Given the description of an element on the screen output the (x, y) to click on. 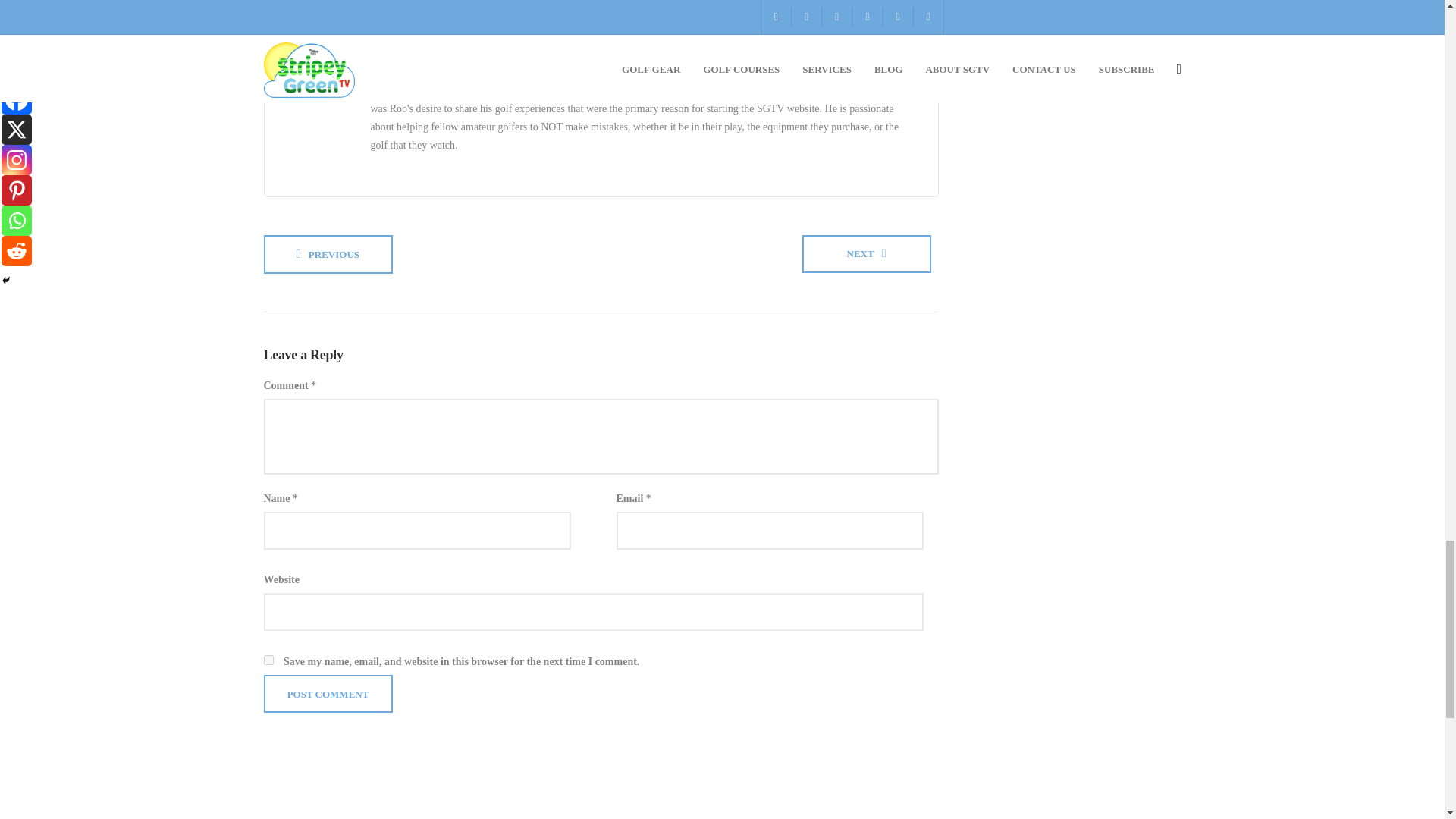
Post Comment (328, 693)
yes (268, 660)
